Given the description of an element on the screen output the (x, y) to click on. 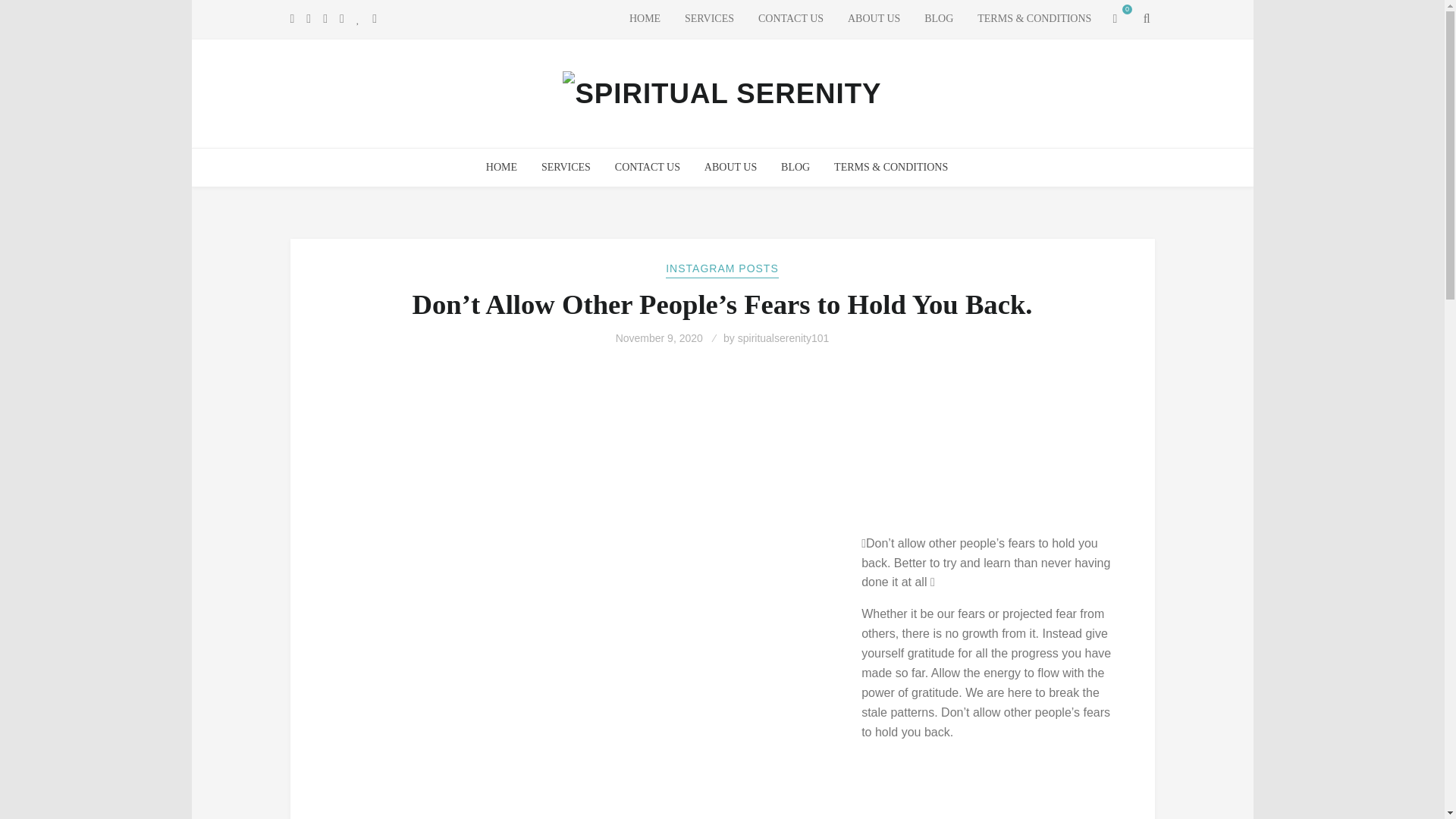
HOME (501, 167)
CONTACT US (647, 167)
INSTAGRAM POSTS (721, 269)
spiritual-serenity (501, 167)
HOME (644, 19)
November 9, 2020 (660, 337)
CONTACT US (791, 19)
ABOUT US (730, 167)
spiritual-serenity (644, 19)
